Given the description of an element on the screen output the (x, y) to click on. 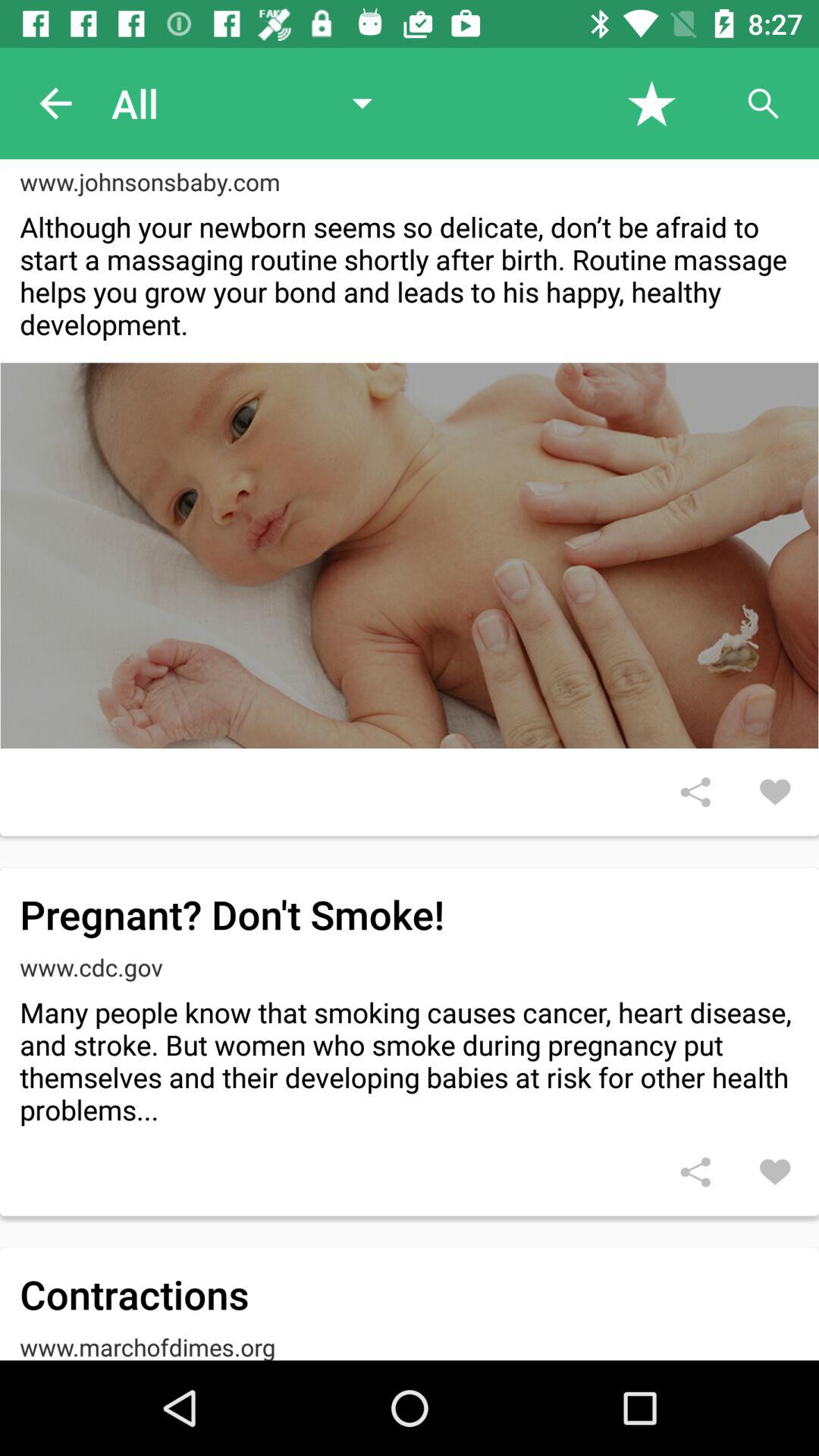
share option (695, 792)
